Given the description of an element on the screen output the (x, y) to click on. 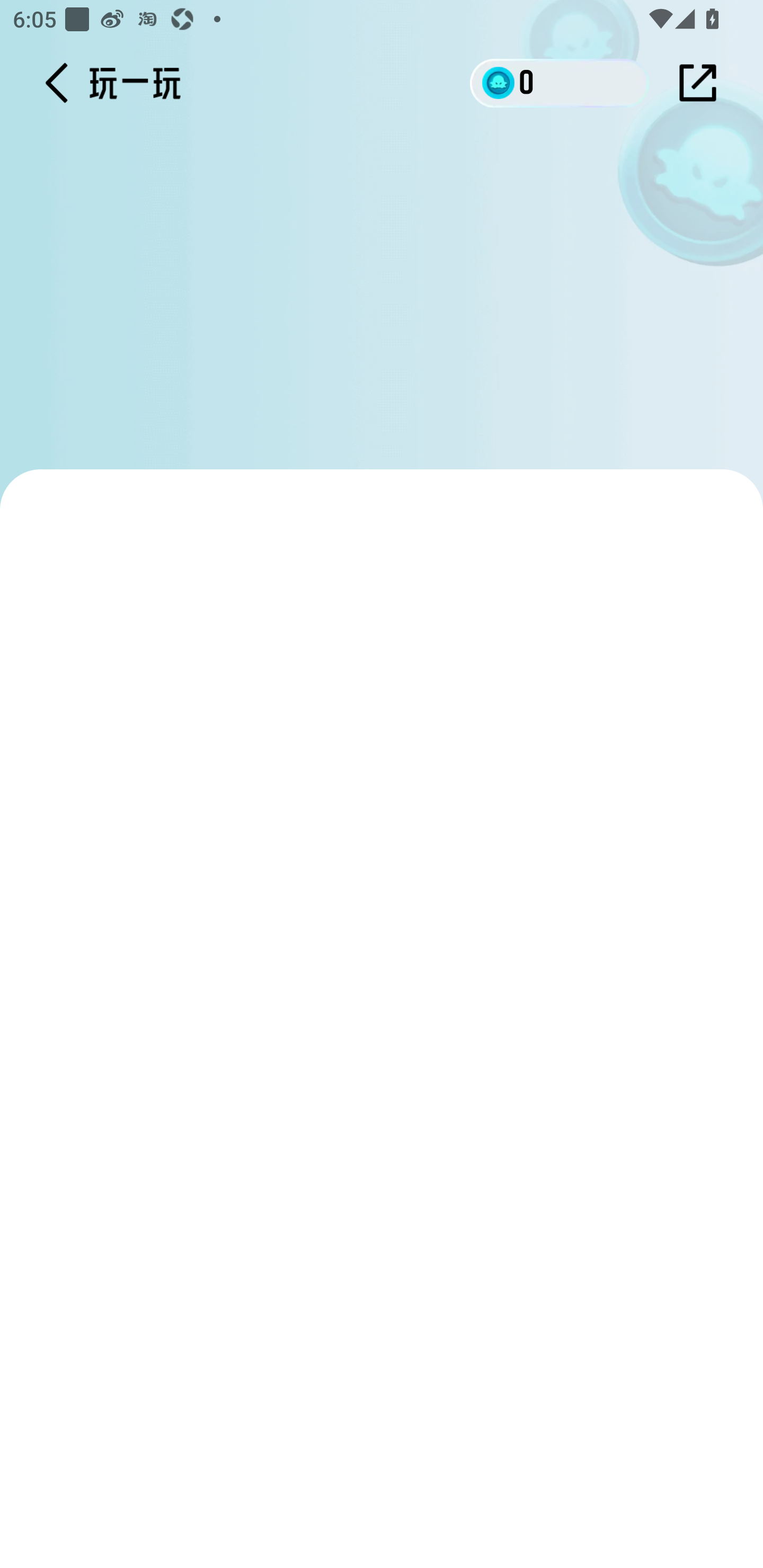
0 (559, 82)
